Given the description of an element on the screen output the (x, y) to click on. 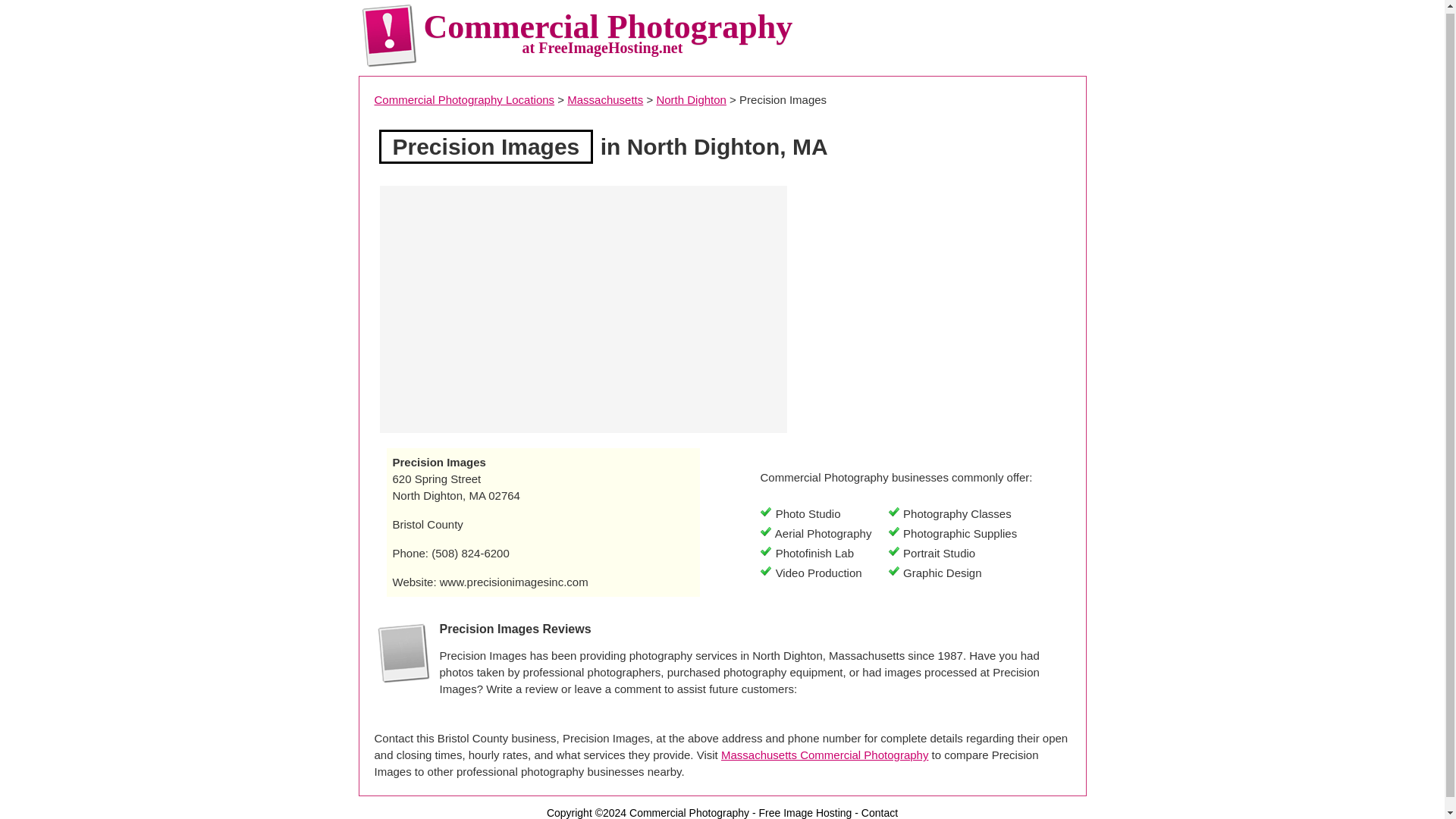
Commercial Photography Locations (464, 99)
Commercial Photography Locations (464, 99)
North Dighton (691, 99)
Massachusetts Commercial Photography (824, 754)
Massachusetts Commercial Photography (605, 99)
North Dighton Commercial Photography (691, 99)
Massachusetts (605, 99)
